Given the description of an element on the screen output the (x, y) to click on. 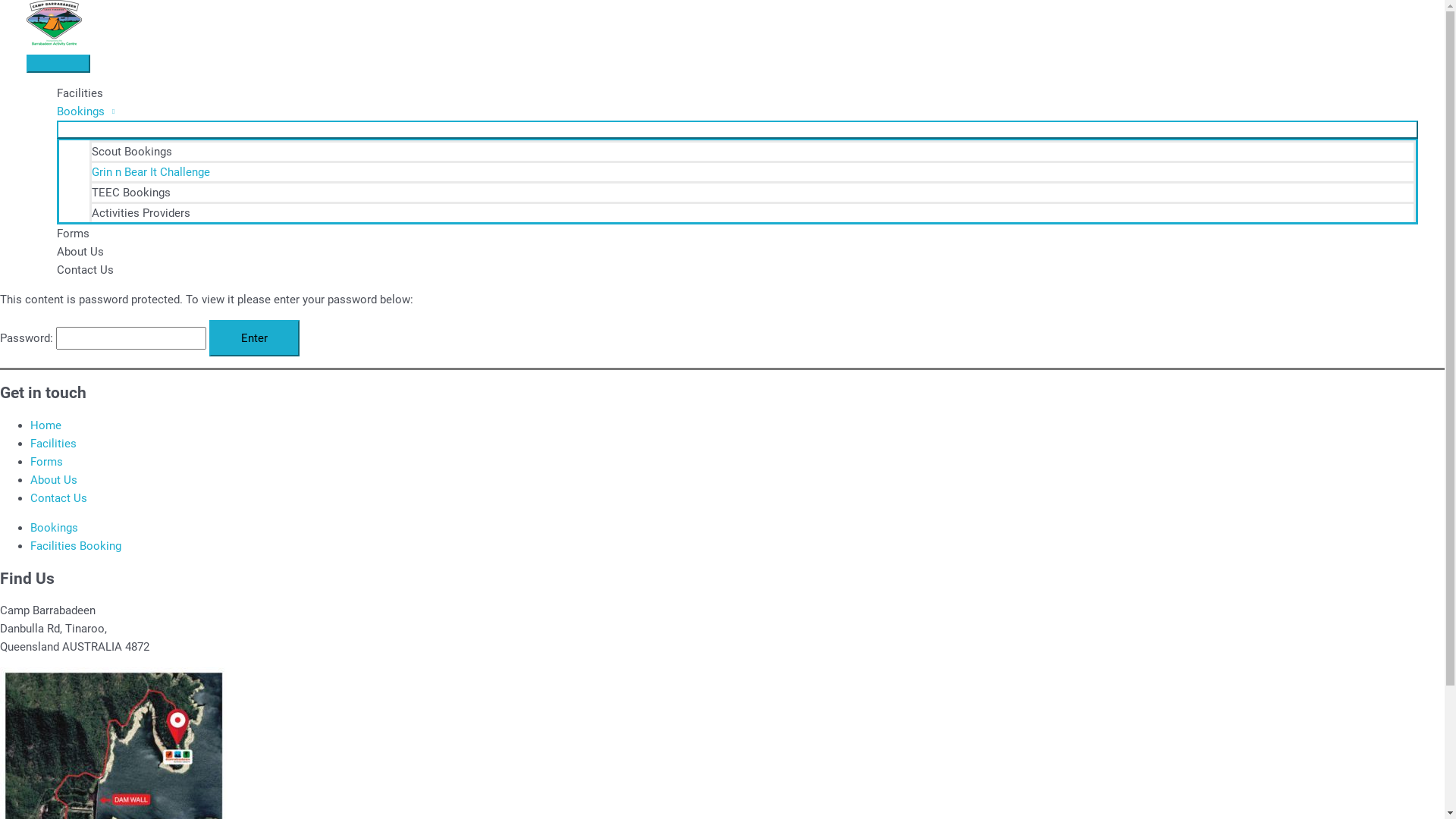
TEEC Bookings Element type: text (752, 191)
Contact Us Element type: text (58, 498)
Facilities Booking Element type: text (75, 545)
About Us Element type: text (737, 251)
Activities Providers Element type: text (752, 211)
Enter Element type: text (254, 338)
Menu Toggle Element type: text (737, 129)
Facilities Element type: text (53, 443)
Scout Bookings Element type: text (752, 150)
Grin n Bear It Challenge Element type: text (752, 170)
Home Element type: text (45, 425)
Facilities Element type: text (737, 93)
Contact Us Element type: text (737, 269)
Forms Element type: text (737, 233)
Bookings Element type: text (737, 111)
Bookings Element type: text (54, 527)
Main Menu Element type: text (58, 63)
About Us Element type: text (53, 479)
Forms Element type: text (46, 461)
